Given the description of an element on the screen output the (x, y) to click on. 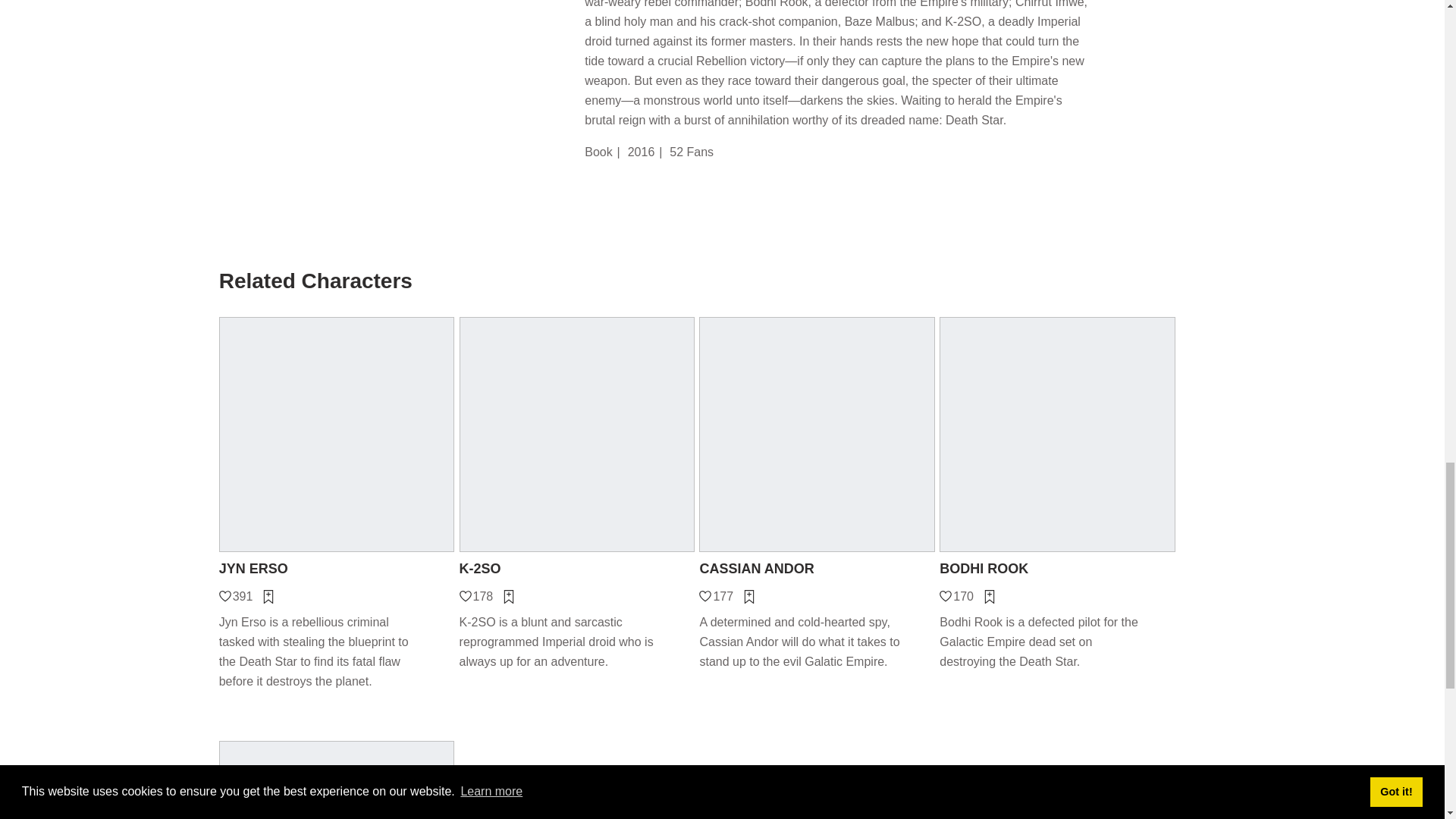
K-2SO (577, 568)
JYN ERSO (336, 568)
CASSIAN ANDOR (816, 568)
BODHI ROOK (1056, 568)
